Given the description of an element on the screen output the (x, y) to click on. 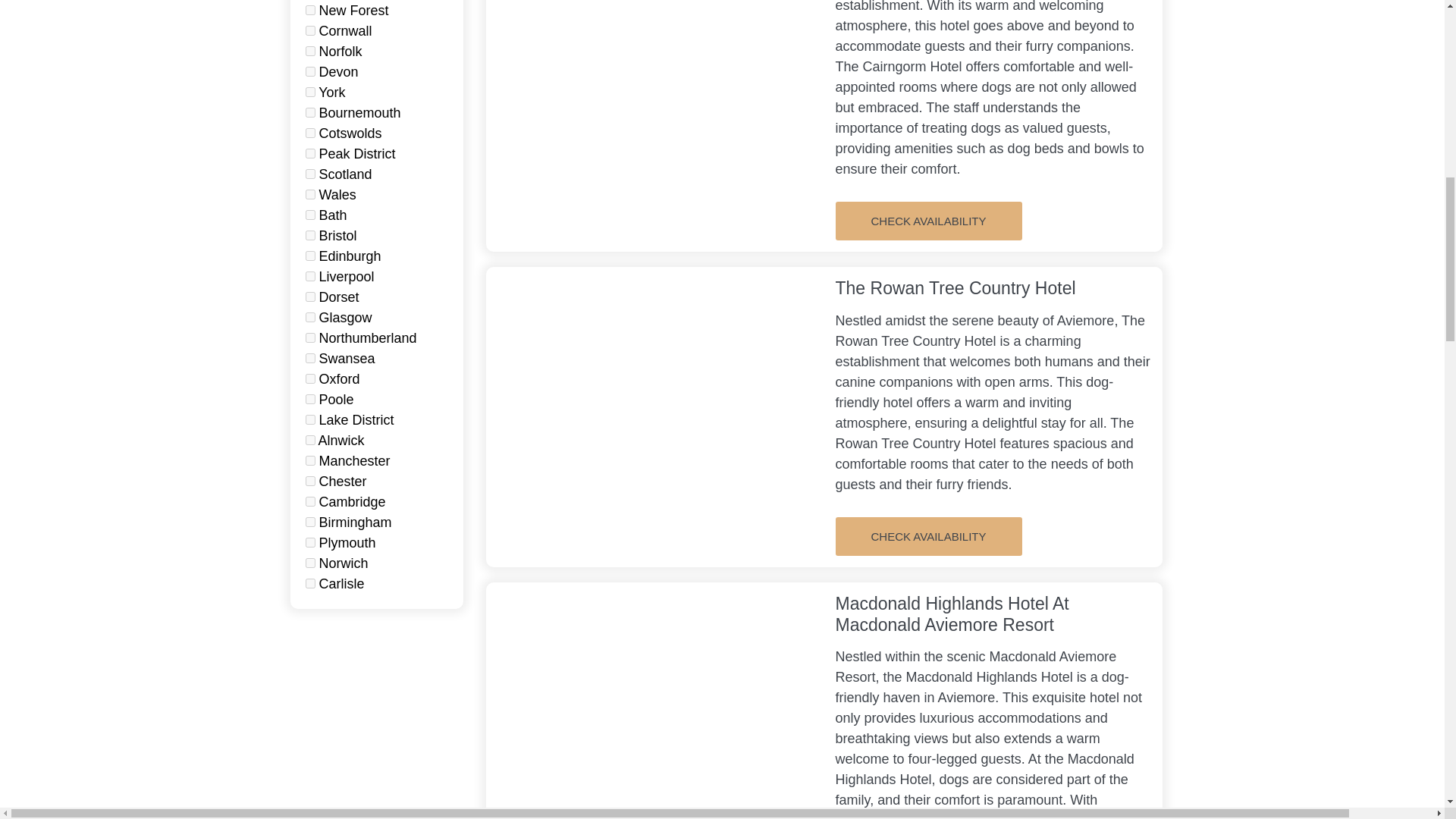
on (309, 235)
on (309, 153)
on (309, 214)
on (309, 132)
on (309, 112)
on (309, 30)
on (309, 173)
on (309, 91)
on (309, 50)
on (309, 9)
on (309, 255)
on (309, 276)
on (309, 194)
on (309, 71)
